Given the description of an element on the screen output the (x, y) to click on. 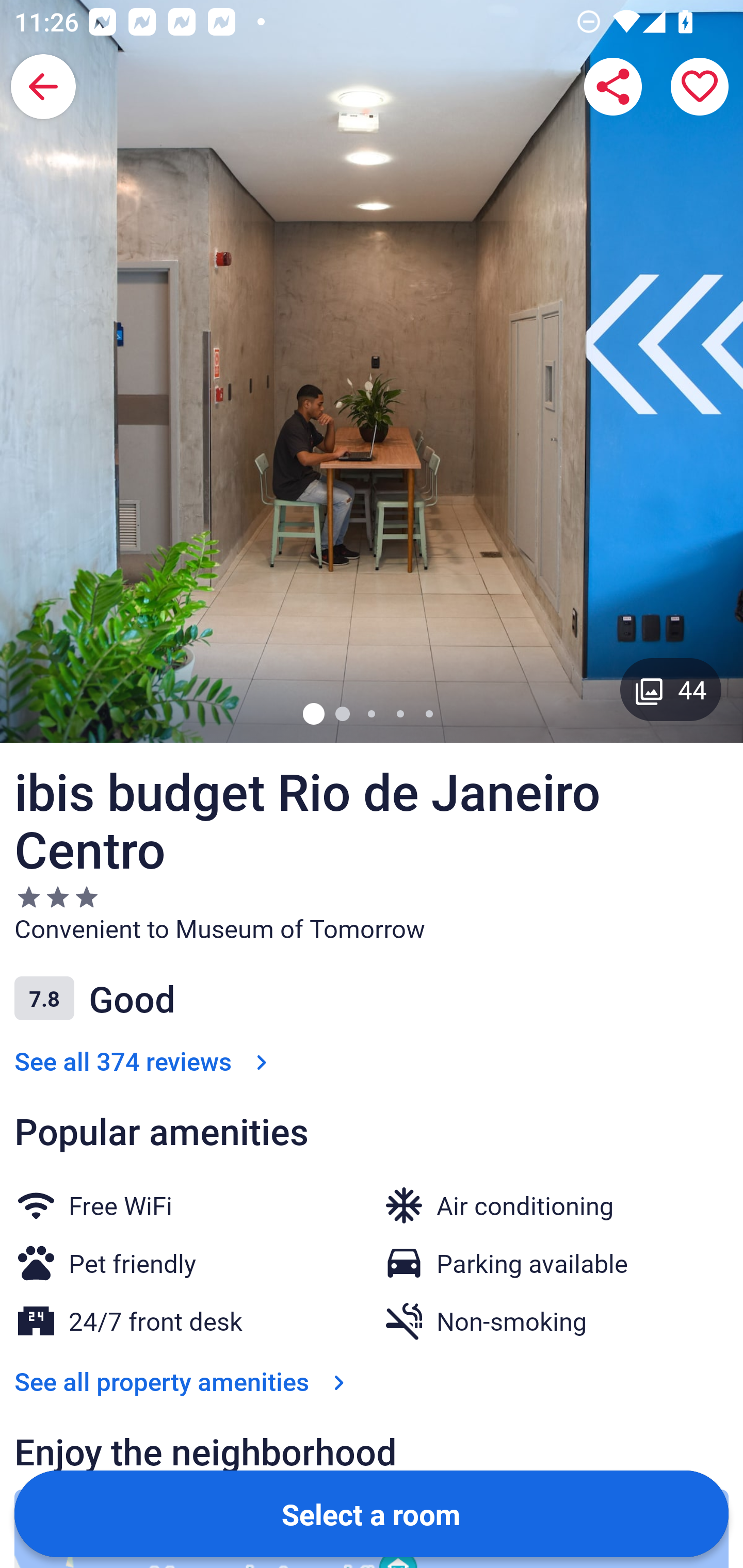
Back (43, 86)
Save property to a trip (699, 86)
Share ibis budget Rio de Janeiro Centro (612, 87)
Gallery button with 44 images (670, 689)
See all 374 reviews See all 374 reviews Link (144, 1060)
See all property amenities (183, 1381)
Select a room Button Select a room (371, 1513)
